Given the description of an element on the screen output the (x, y) to click on. 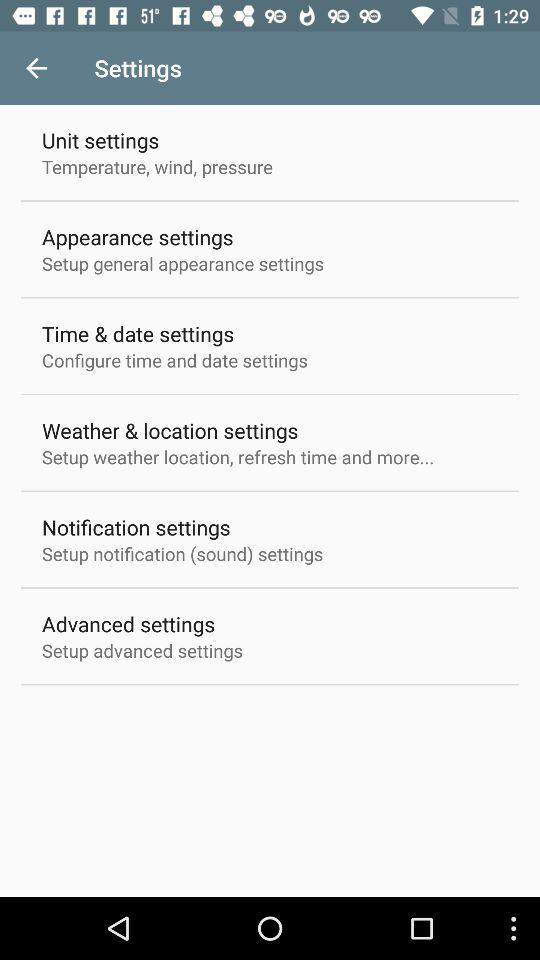
choose item next to settings icon (36, 68)
